Given the description of an element on the screen output the (x, y) to click on. 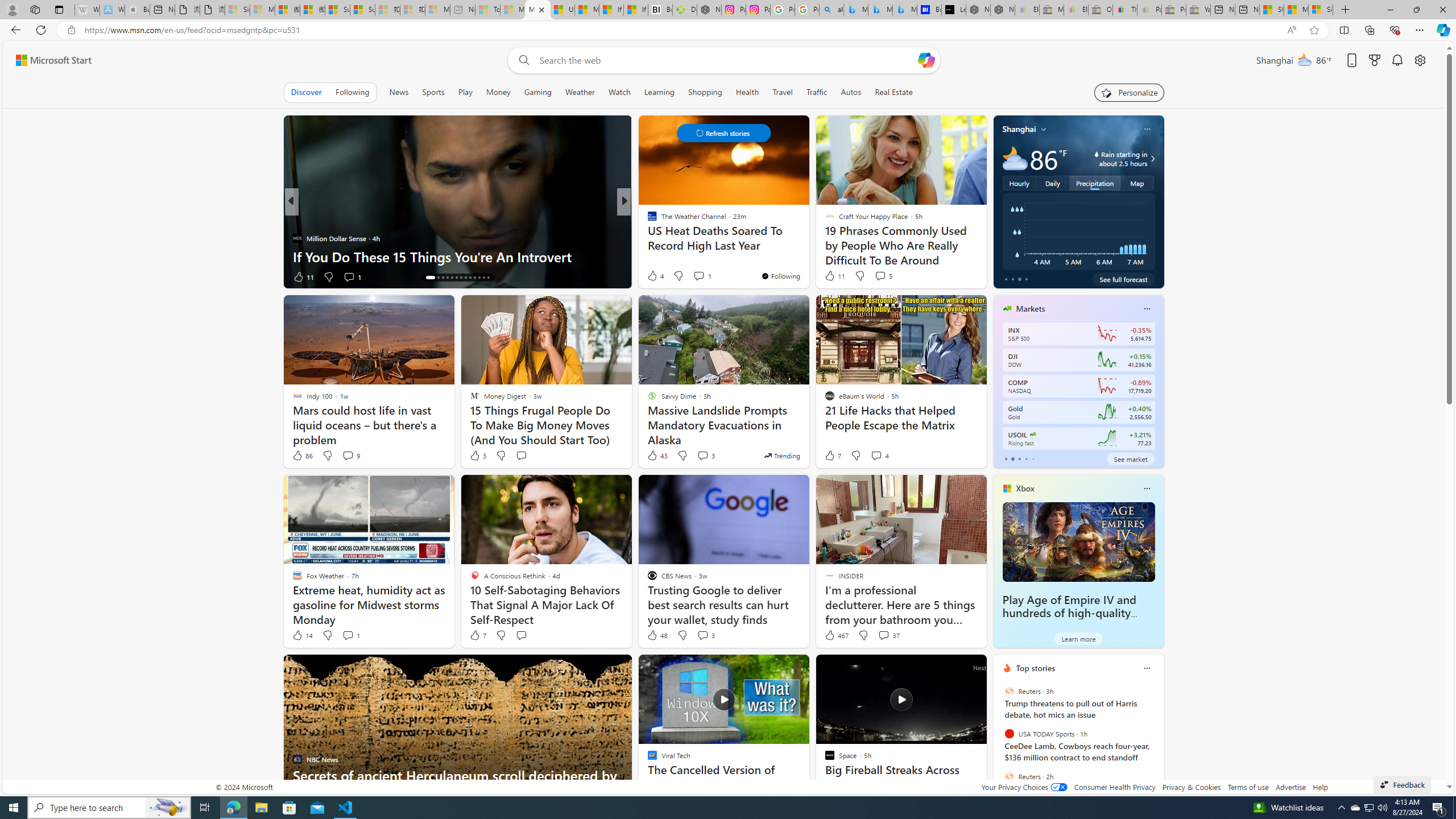
ChaChingQueen (647, 219)
Warship sinks after crash with unknown object (807, 256)
You're following MSNBC (949, 279)
Markets (1030, 308)
View comments 9 Comment (350, 455)
View comments 13 Comment (707, 276)
